Given the description of an element on the screen output the (x, y) to click on. 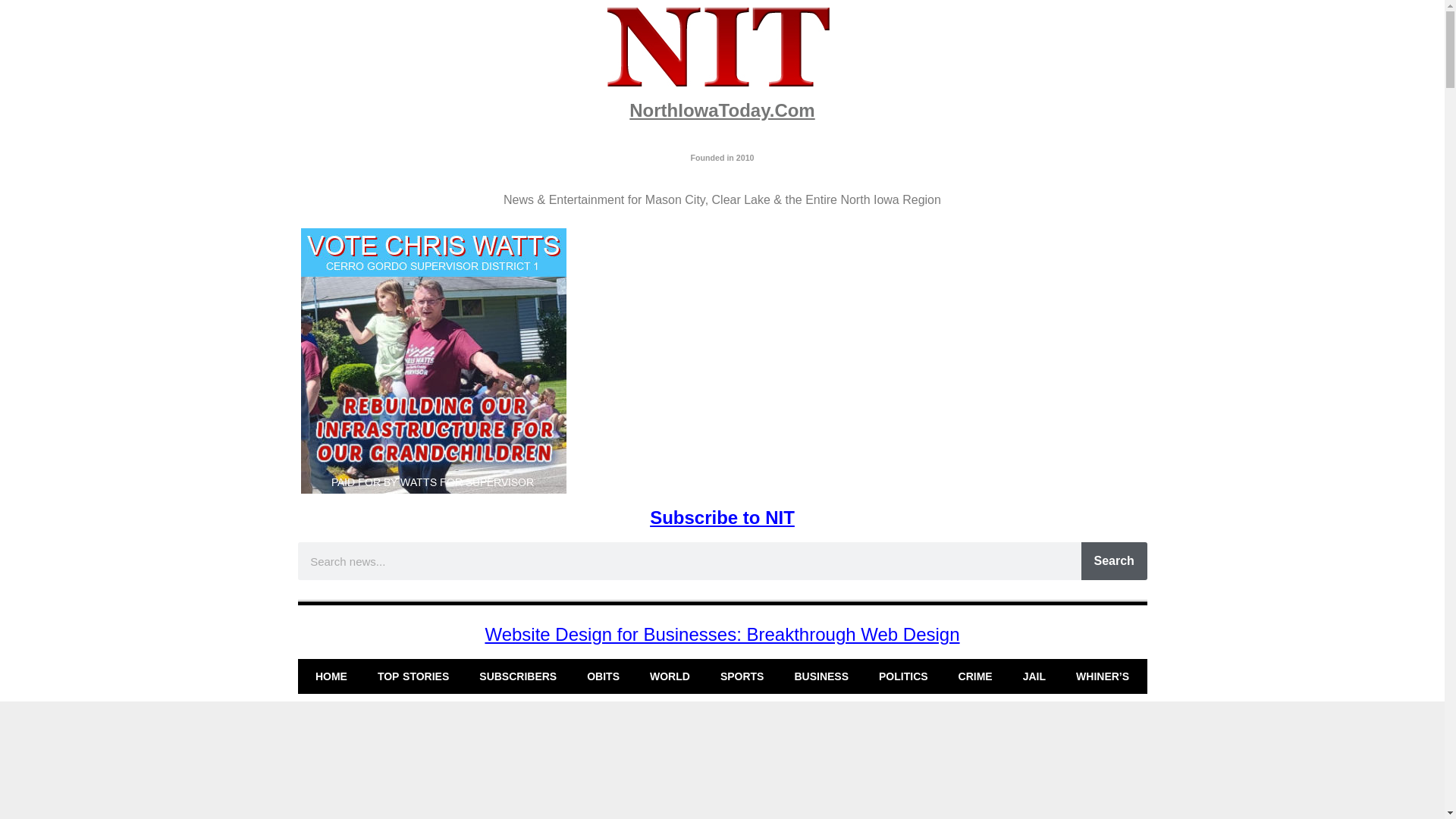
WORLD (669, 676)
Advertisement (721, 764)
OBITS (603, 676)
SPORTS (741, 676)
SUBSCRIBERS (518, 676)
POLITICS (903, 676)
Subscribe to NIT (721, 516)
TOP STORIES (413, 676)
CRIME (975, 676)
Search (1114, 560)
HOME (330, 676)
JAIL (1034, 676)
NorthIowaToday.Com (720, 109)
BUSINESS (820, 676)
Website Design for Businesses: Breakthrough Web Design (721, 634)
